Given the description of an element on the screen output the (x, y) to click on. 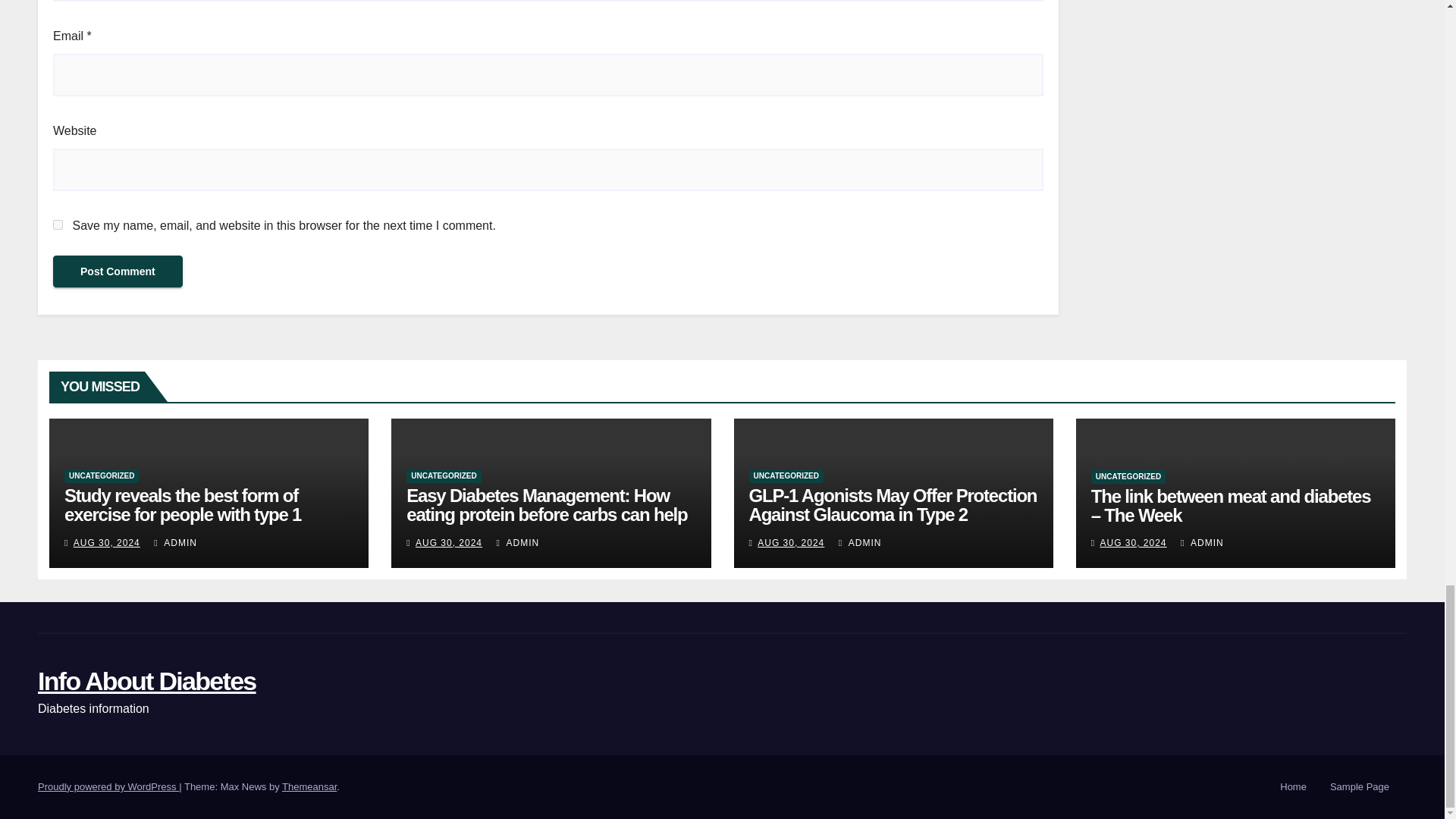
Home (1293, 786)
yes (57, 225)
Post Comment (117, 271)
Post Comment (117, 271)
